Given the description of an element on the screen output the (x, y) to click on. 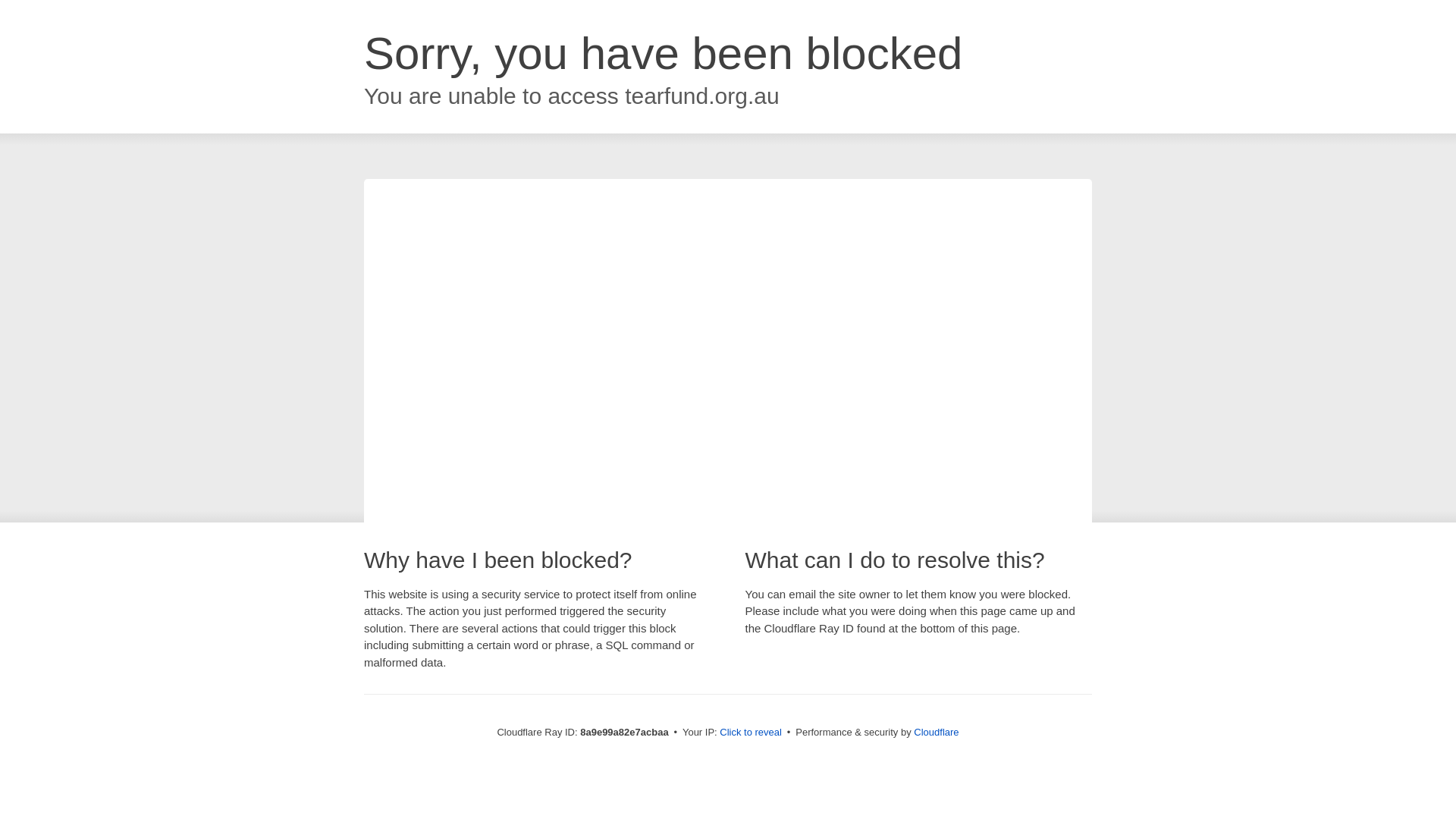
Click to reveal (750, 732)
Cloudflare (936, 731)
